Given the description of an element on the screen output the (x, y) to click on. 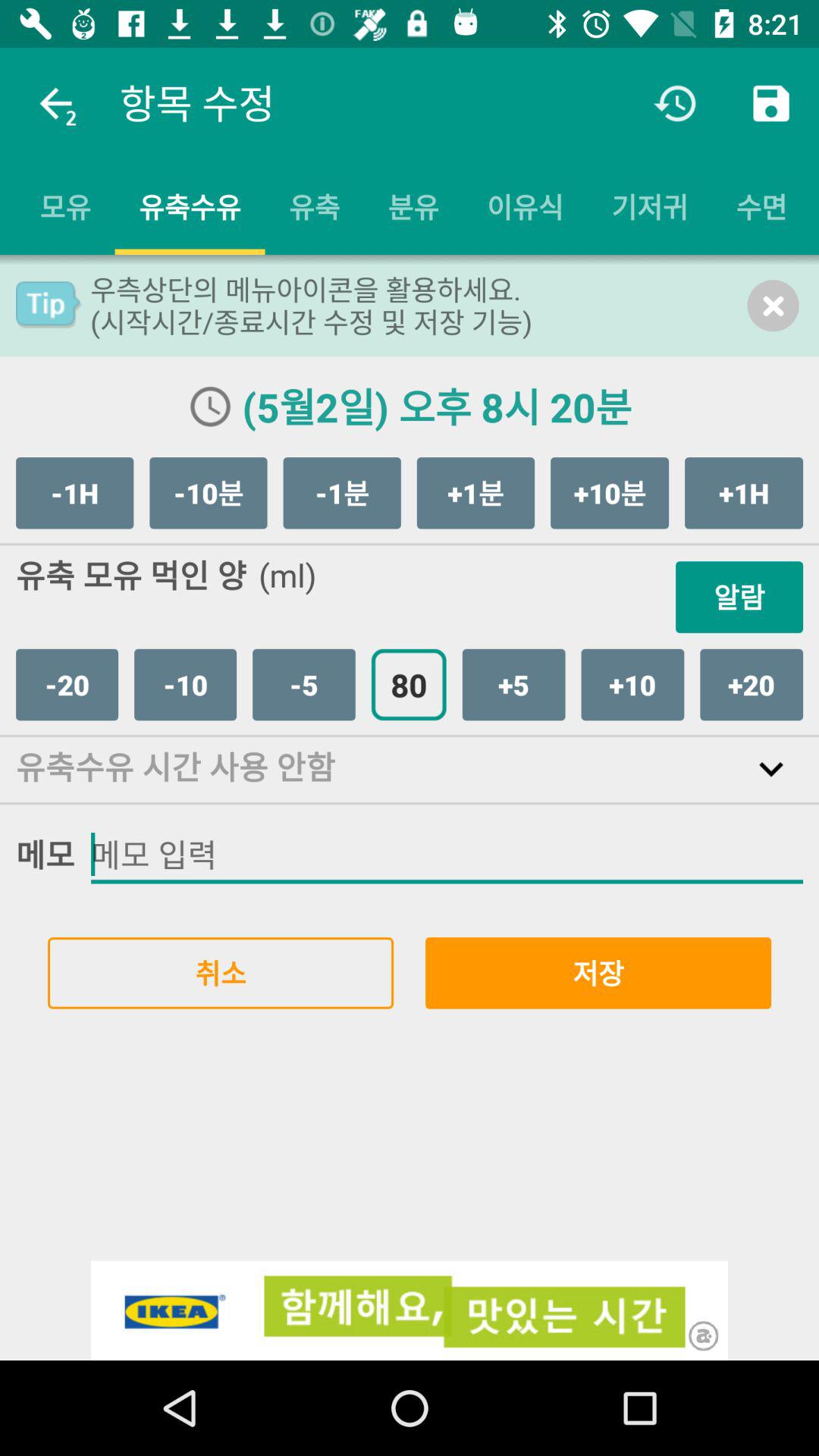
click on 1h (74, 493)
click on 80 right next to 5 (408, 684)
click on 5 which is at the left side of 10 (513, 684)
click on 10 which is at the right side of 20 (185, 684)
click on the button which is below the timer (649, 206)
